Given the description of an element on the screen output the (x, y) to click on. 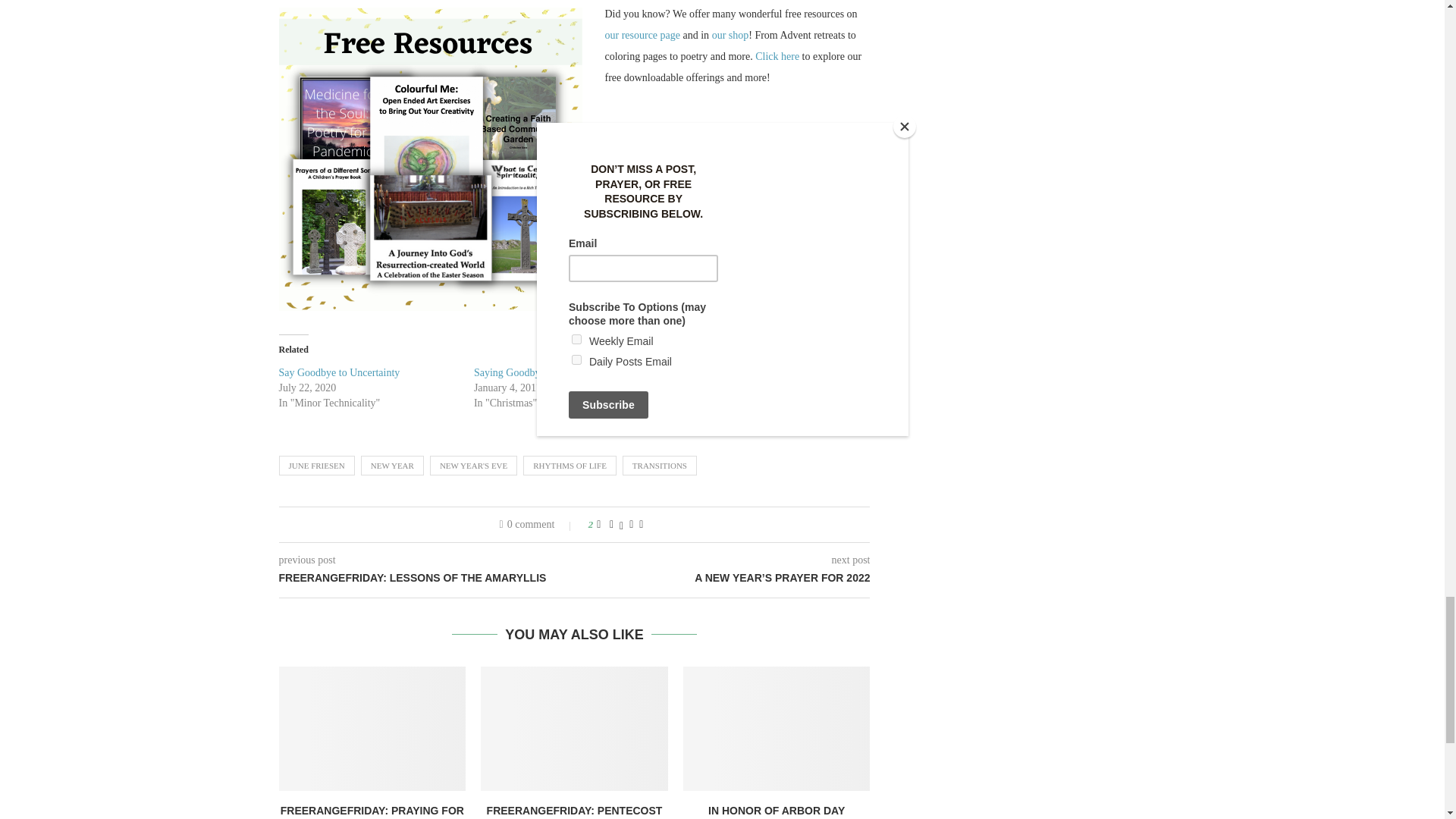
FreerangeFriday: Praying for your Country (372, 728)
In Honor of Arbor Day (776, 728)
Say Goodbye to Uncertainty (339, 372)
FreerangeFriday: Pentecost is Coming! Can you Hear it? (574, 728)
Saying Goodbye to Christmas (537, 372)
A Prayer for Christ The King Sunday (747, 372)
Blog Ads 400 x 400 28 (430, 159)
